Given the description of an element on the screen output the (x, y) to click on. 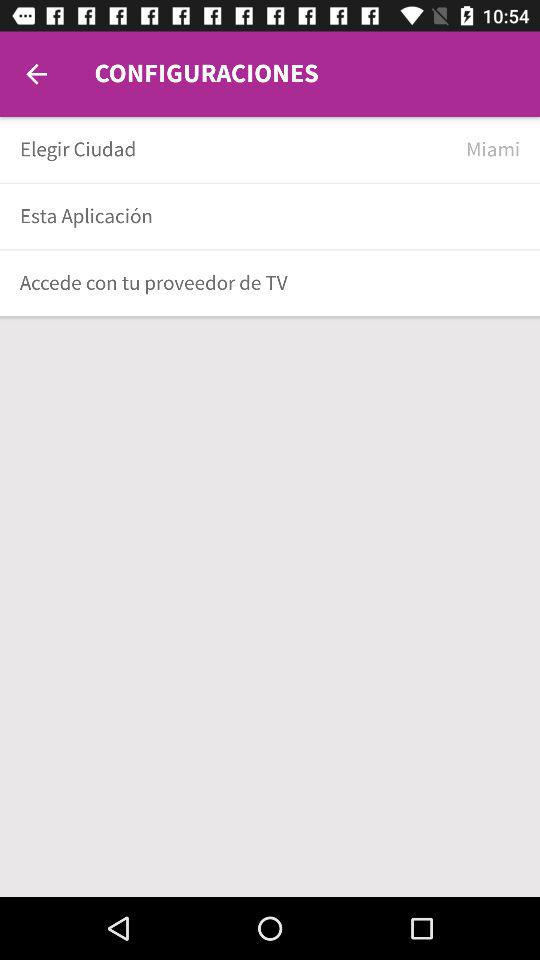
select icon below accede con tu icon (270, 318)
